Given the description of an element on the screen output the (x, y) to click on. 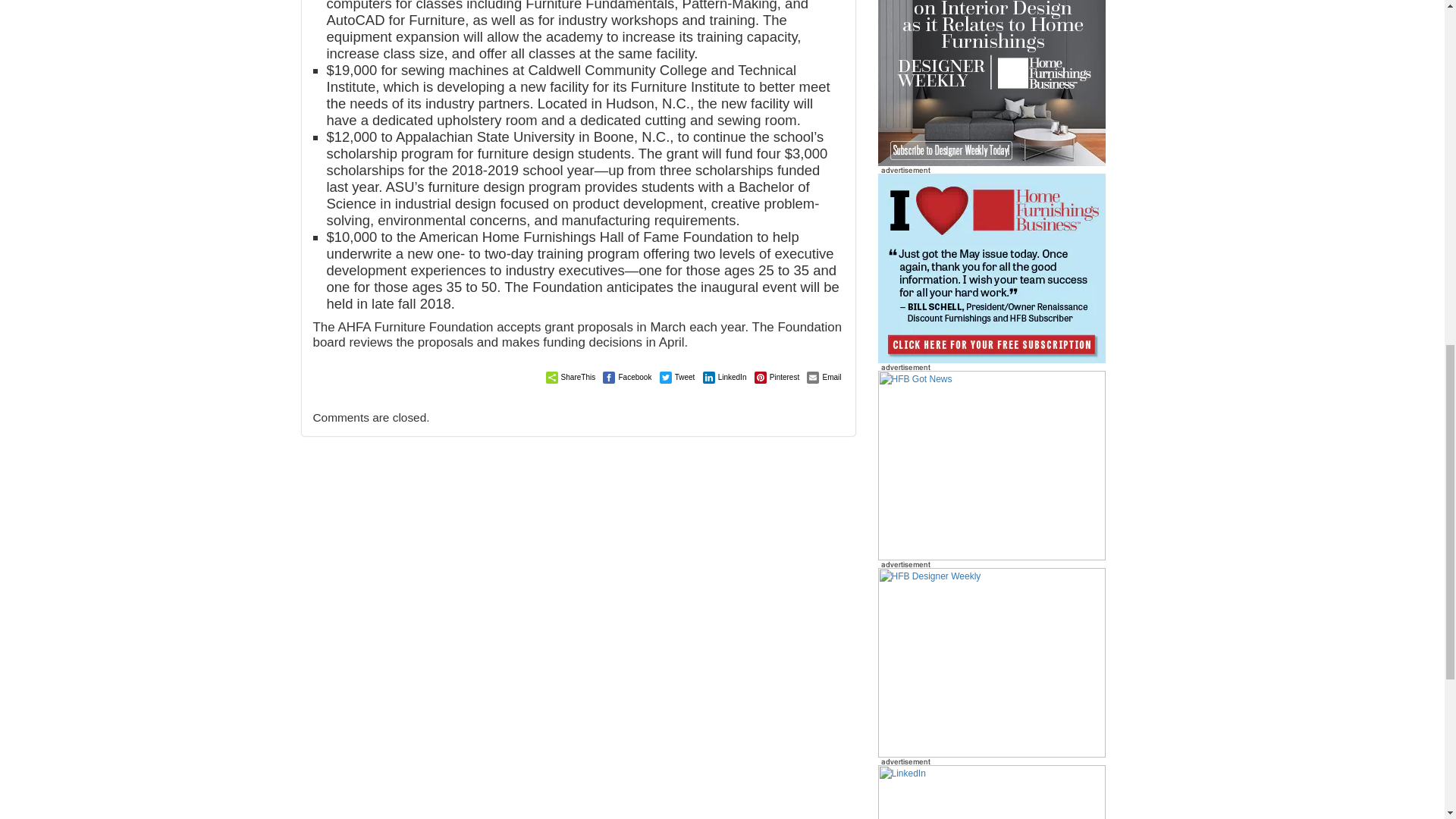
HFB Designer Weekly (991, 83)
HFB I Love Schell (991, 267)
HFB Subscribe IHeart (991, 465)
HFB Got News (991, 464)
HFB Designer Weekly (991, 70)
HFB Subscribe IHeart Schell (991, 268)
